Given the description of an element on the screen output the (x, y) to click on. 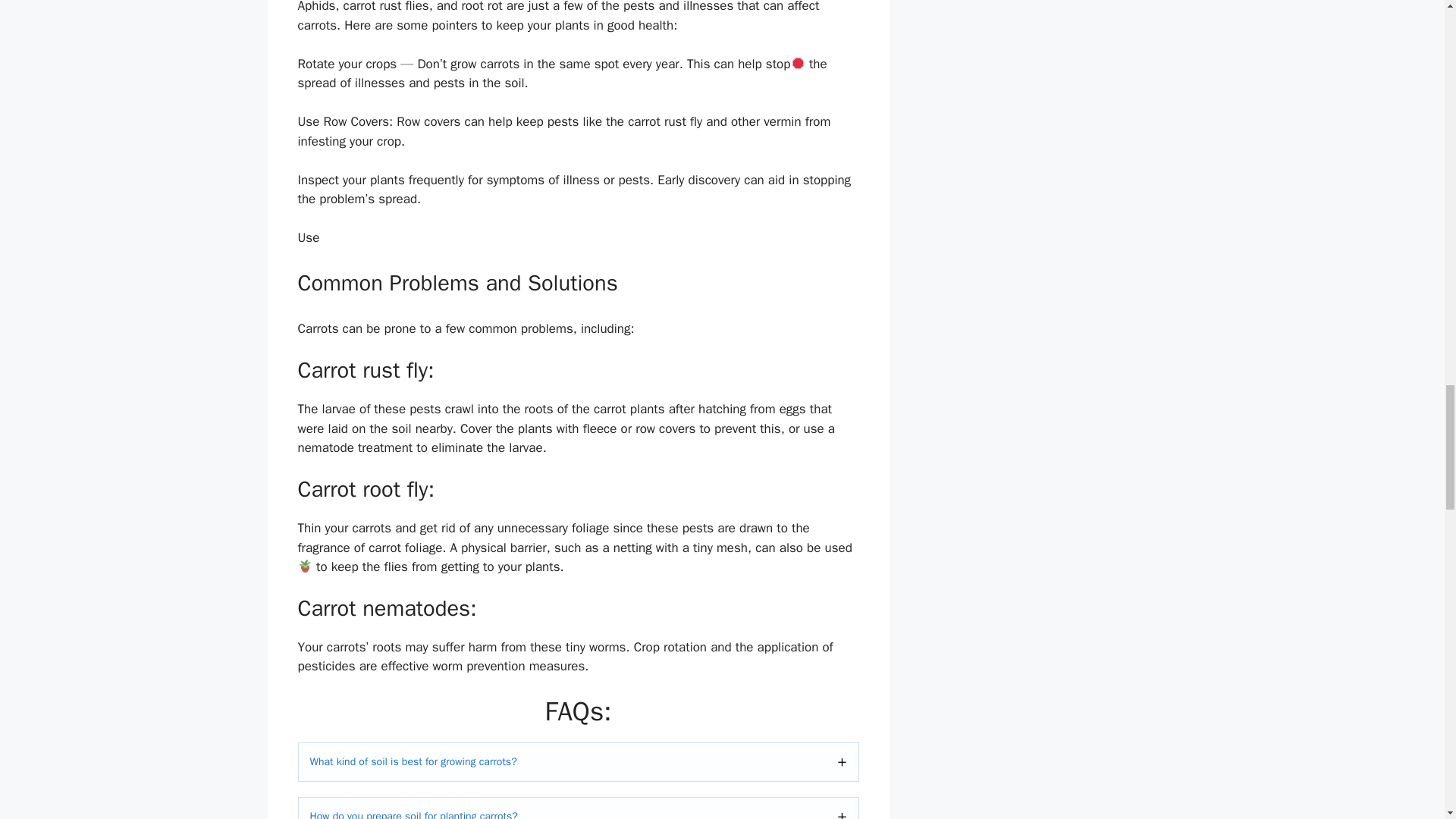
What kind of soil is best for growing carrots? (578, 761)
How do you prepare soil for planting carrots? (578, 808)
